Given the description of an element on the screen output the (x, y) to click on. 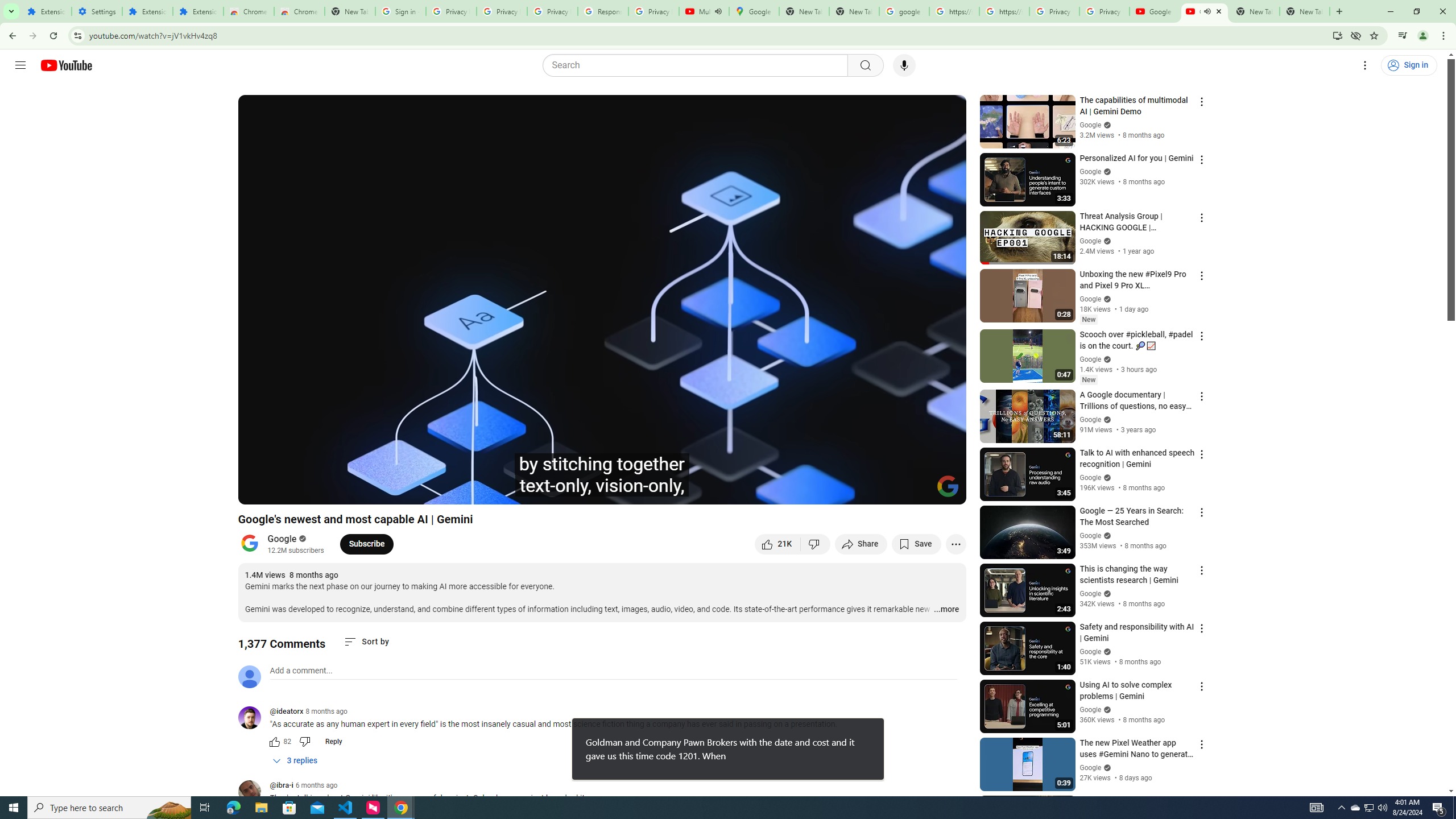
Autoplay is on (808, 490)
https://scholar.google.com/ (954, 11)
@ibra-i (281, 785)
Miniplayer (i) (890, 490)
https://scholar.google.com/ (1004, 11)
Share (861, 543)
Dislike this video (815, 543)
